Given the description of an element on the screen output the (x, y) to click on. 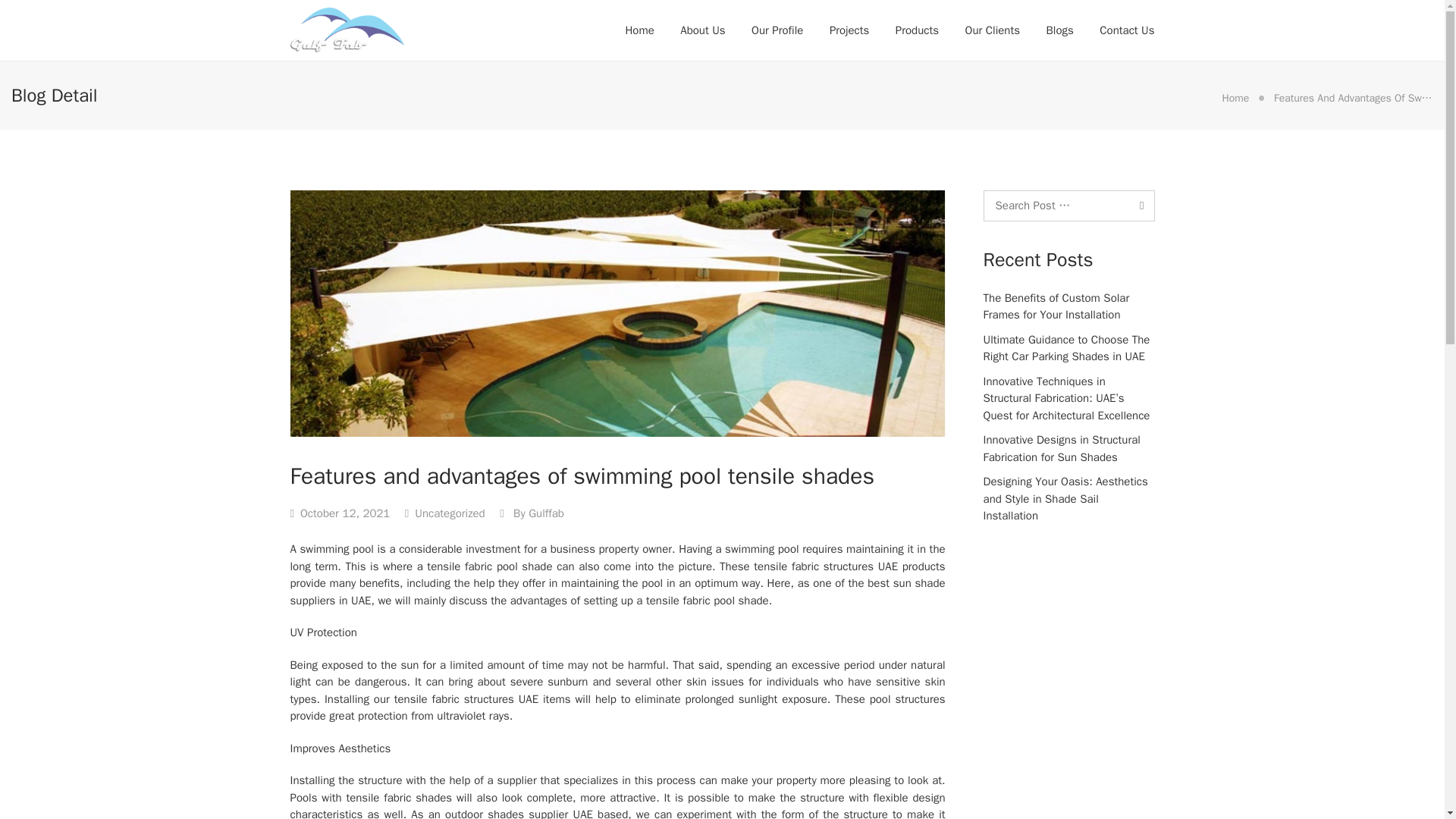
Our Profile (777, 30)
Browse to: Home (1235, 97)
Uncategorized (449, 513)
Home (1235, 97)
Contact Us (1126, 30)
Our Clients (992, 30)
Innovative Designs in Structural Fabrication for Sun Shades (1062, 448)
The Benefits of Custom Solar Frames for Your Installation (1056, 306)
